Given the description of an element on the screen output the (x, y) to click on. 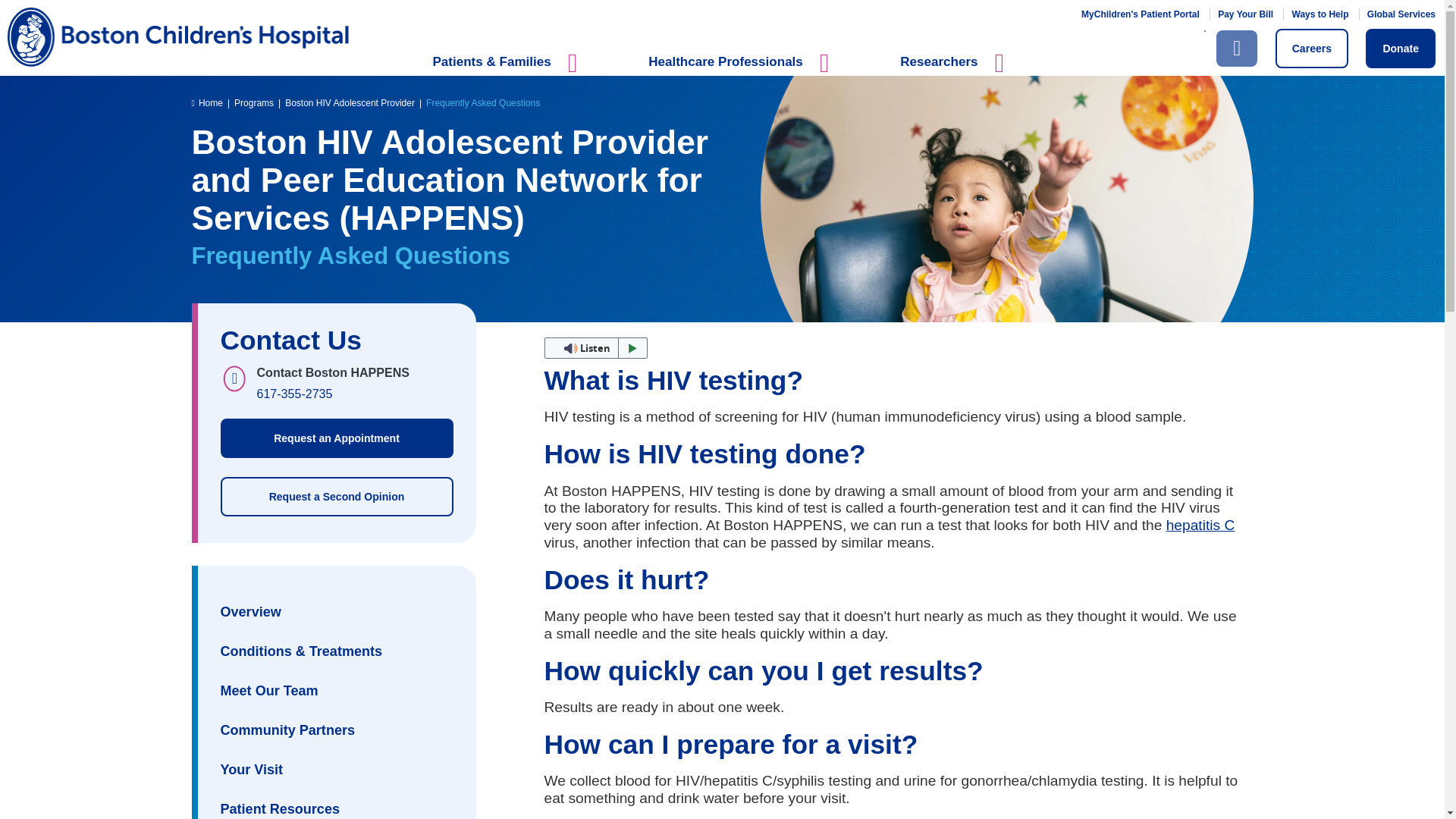
Expand menu Healthcare Professionals (742, 70)
Expand menu Researchers (955, 70)
Programs (253, 102)
Home (680, 36)
Home (206, 102)
Listen to this page using ReadSpeaker (595, 347)
